Given the description of an element on the screen output the (x, y) to click on. 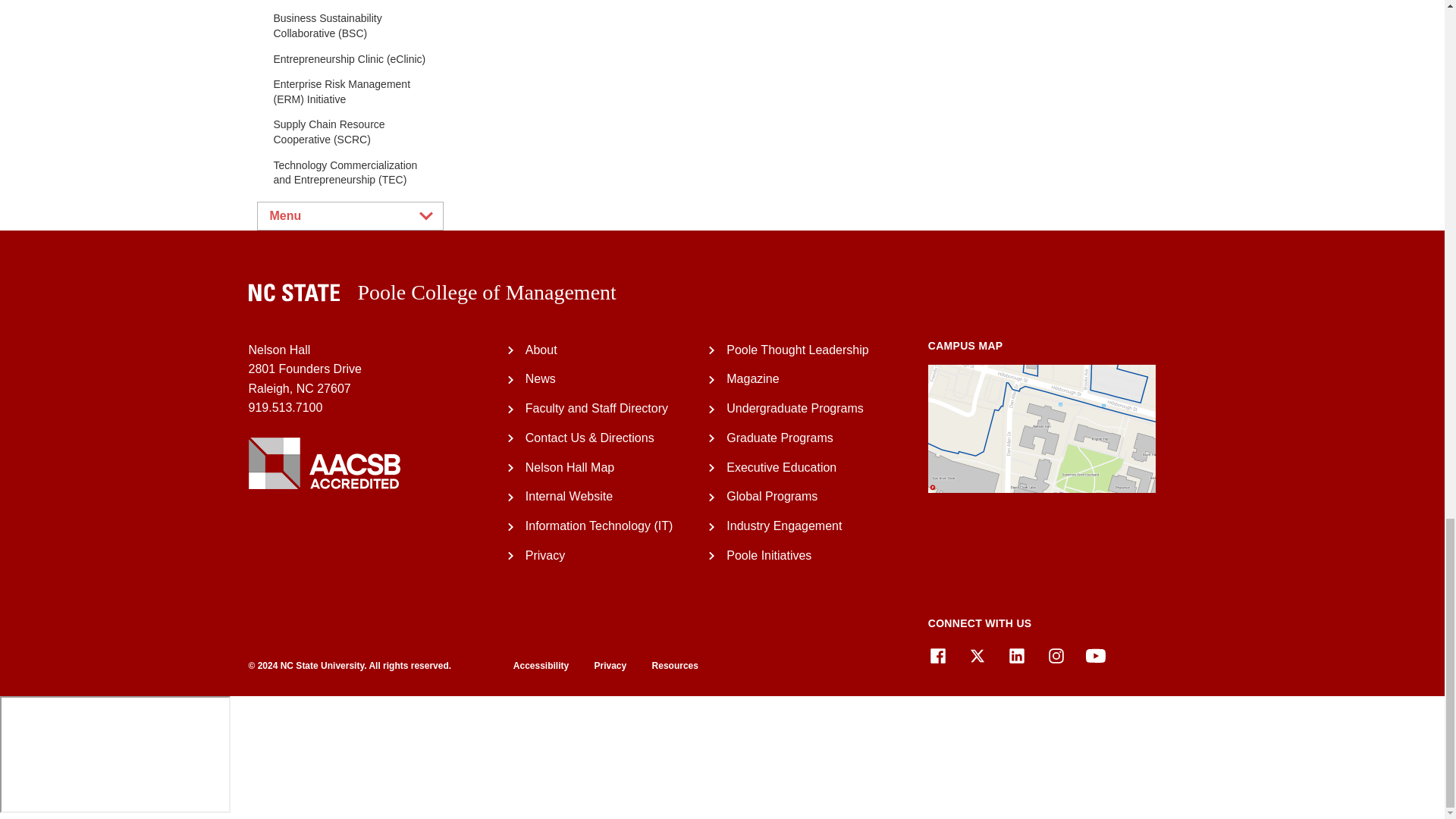
YouTube (1095, 655)
Instagram (1055, 655)
LinkedIn (1016, 655)
X (977, 655)
Facebook (937, 655)
